Given the description of an element on the screen output the (x, y) to click on. 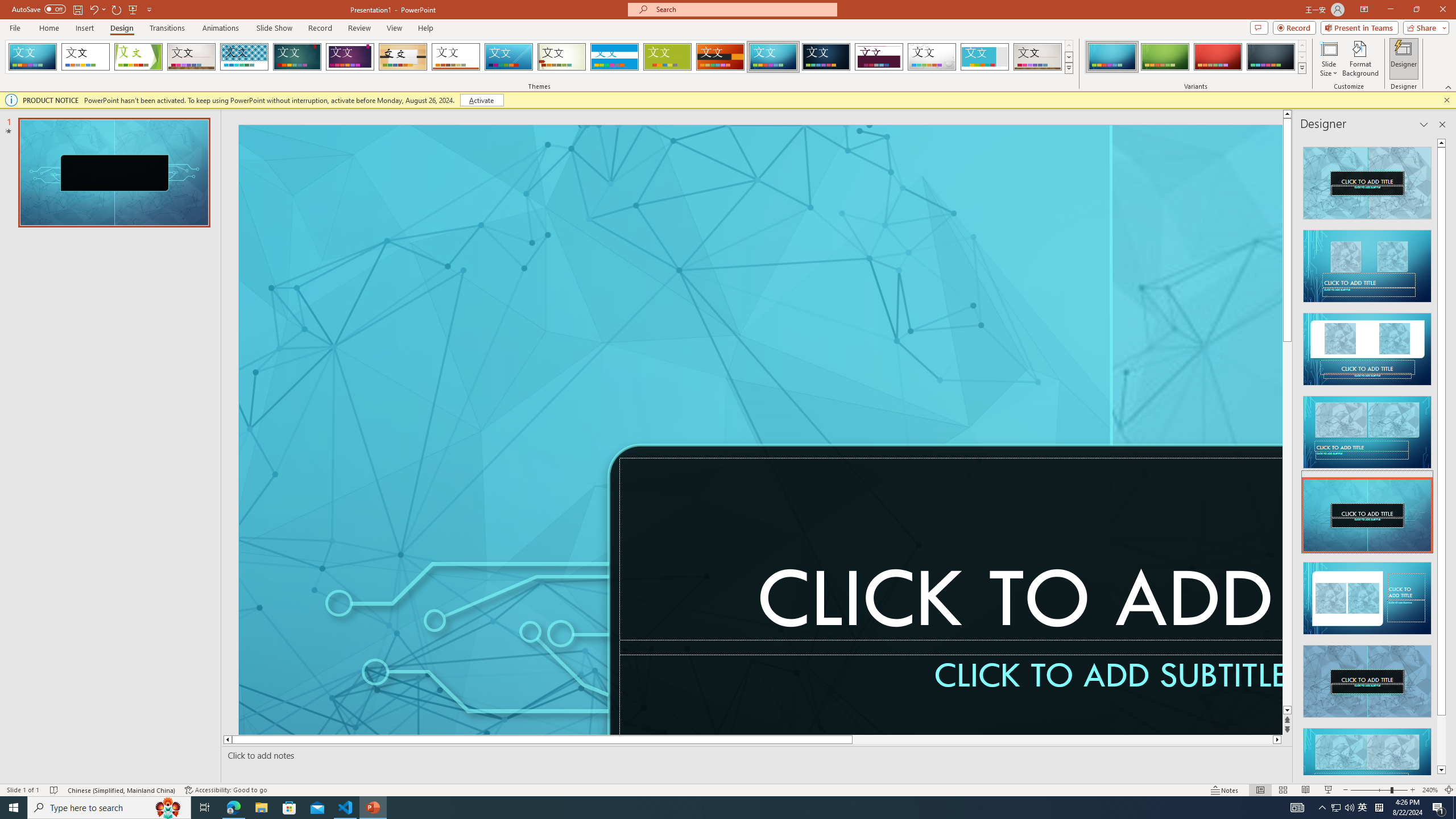
Berlin (720, 56)
Banded (614, 56)
Organic (403, 56)
Ion (296, 56)
